Given the description of an element on the screen output the (x, y) to click on. 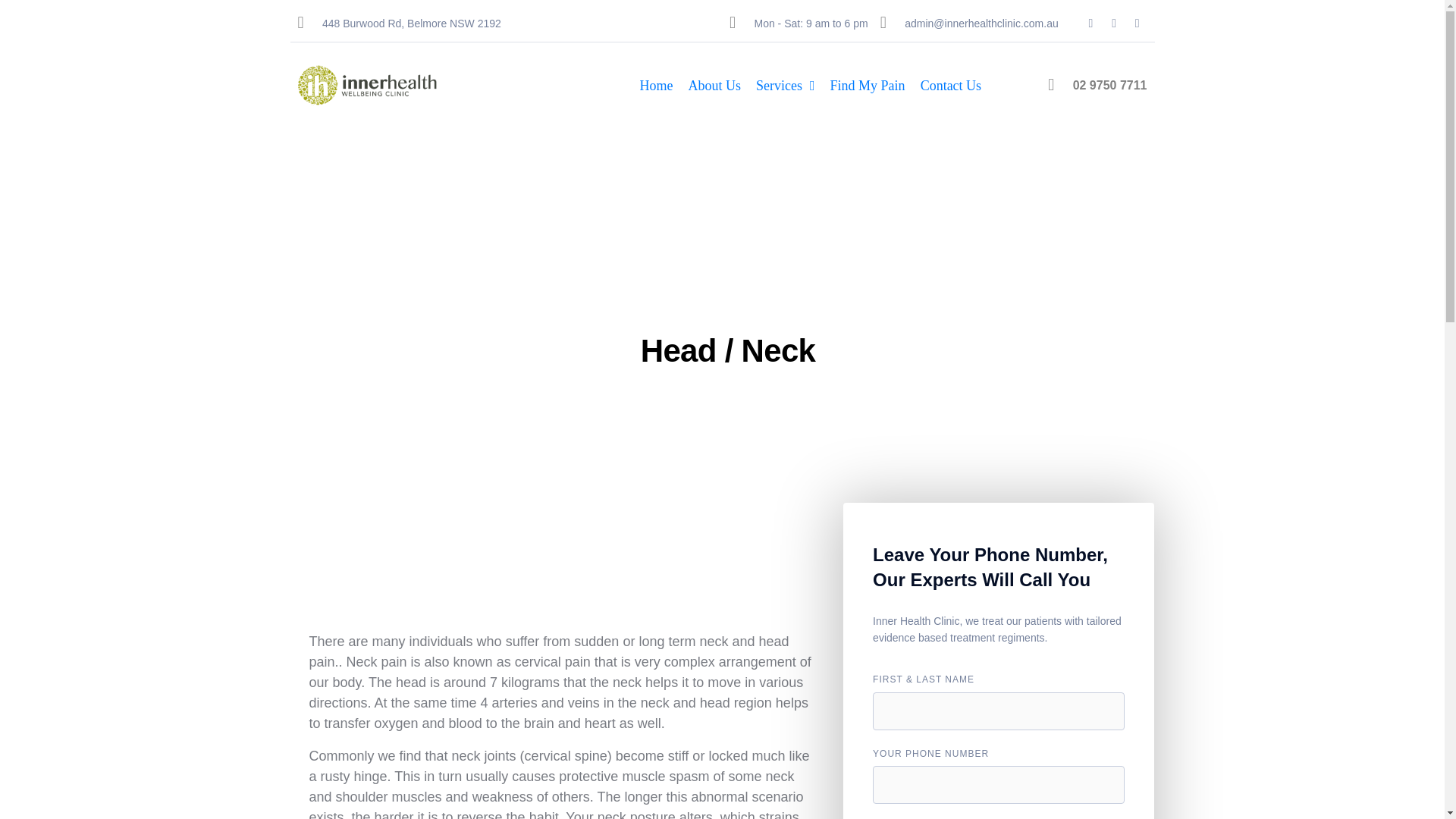
About Us (715, 85)
Home (656, 85)
Services (785, 85)
